Given the description of an element on the screen output the (x, y) to click on. 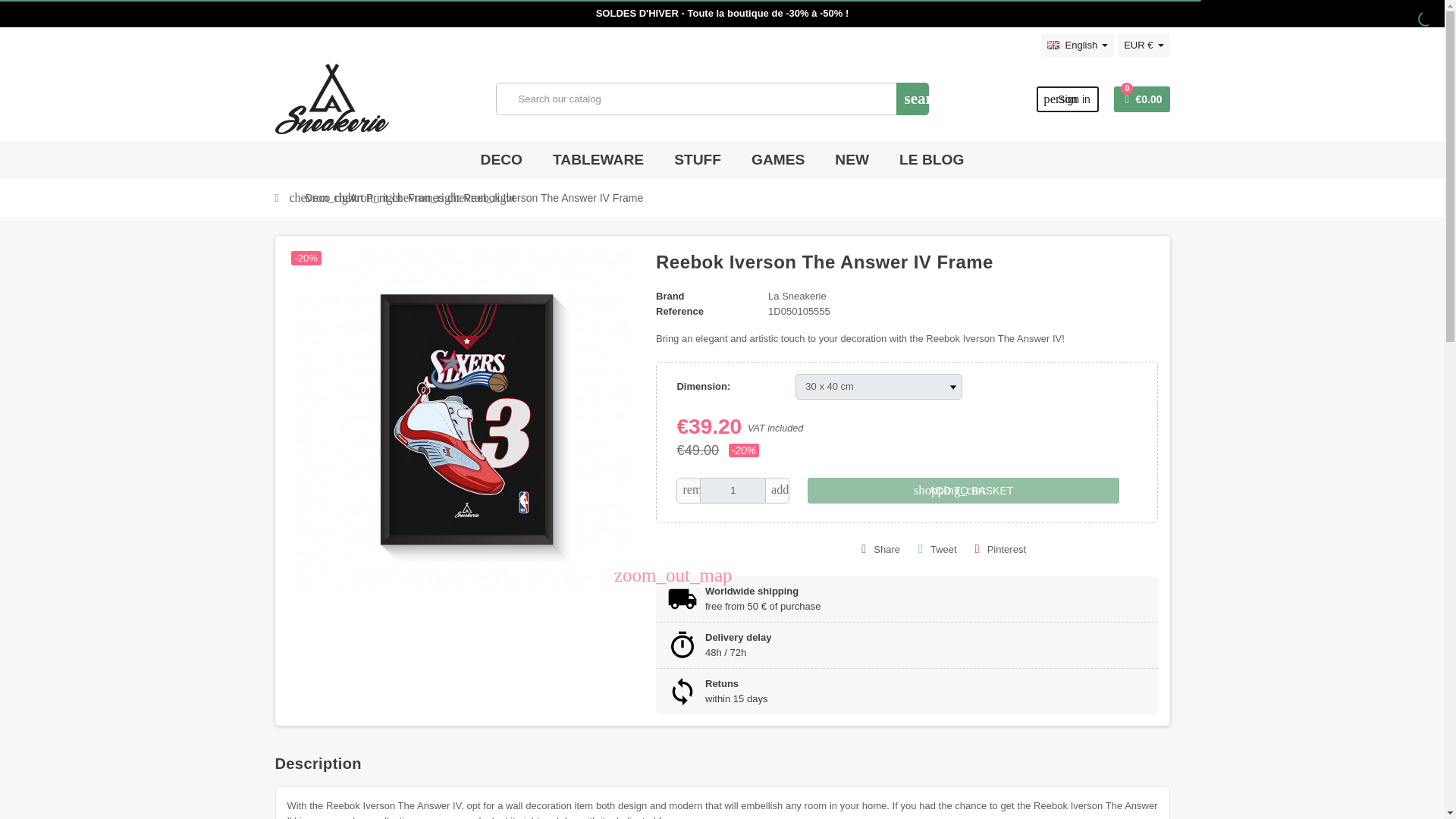
LE BLOG (931, 159)
Share (879, 549)
NEW (852, 159)
GAMES (777, 159)
1 (732, 490)
Log in to your customer account (1067, 98)
remove (688, 490)
Pinterest (1000, 549)
La Sneakerie (797, 296)
Frames (425, 197)
Tweet (937, 549)
add (777, 490)
DECO (501, 159)
Pinterest (1067, 98)
